Given the description of an element on the screen output the (x, y) to click on. 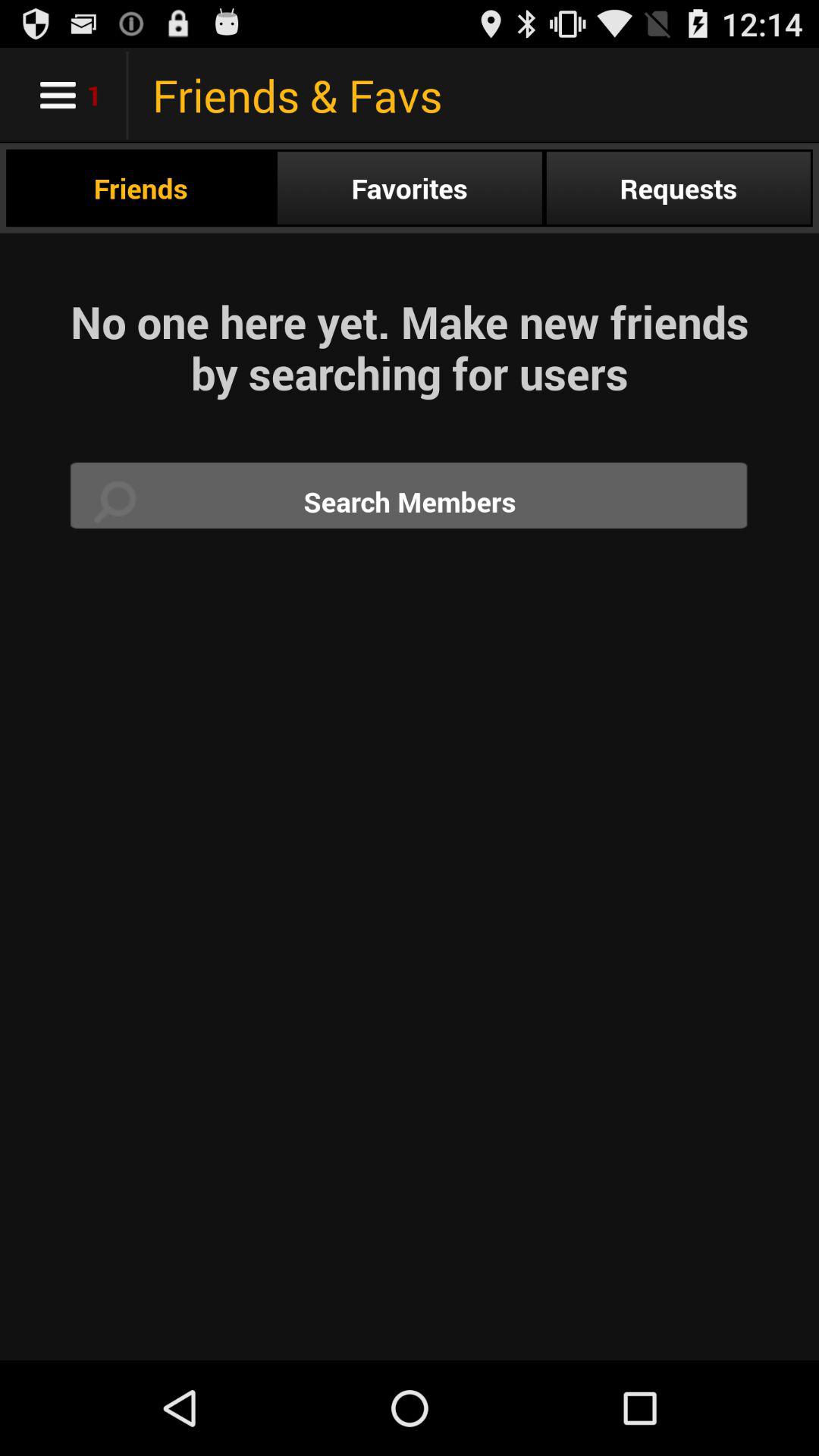
choose requests item (678, 187)
